Given the description of an element on the screen output the (x, y) to click on. 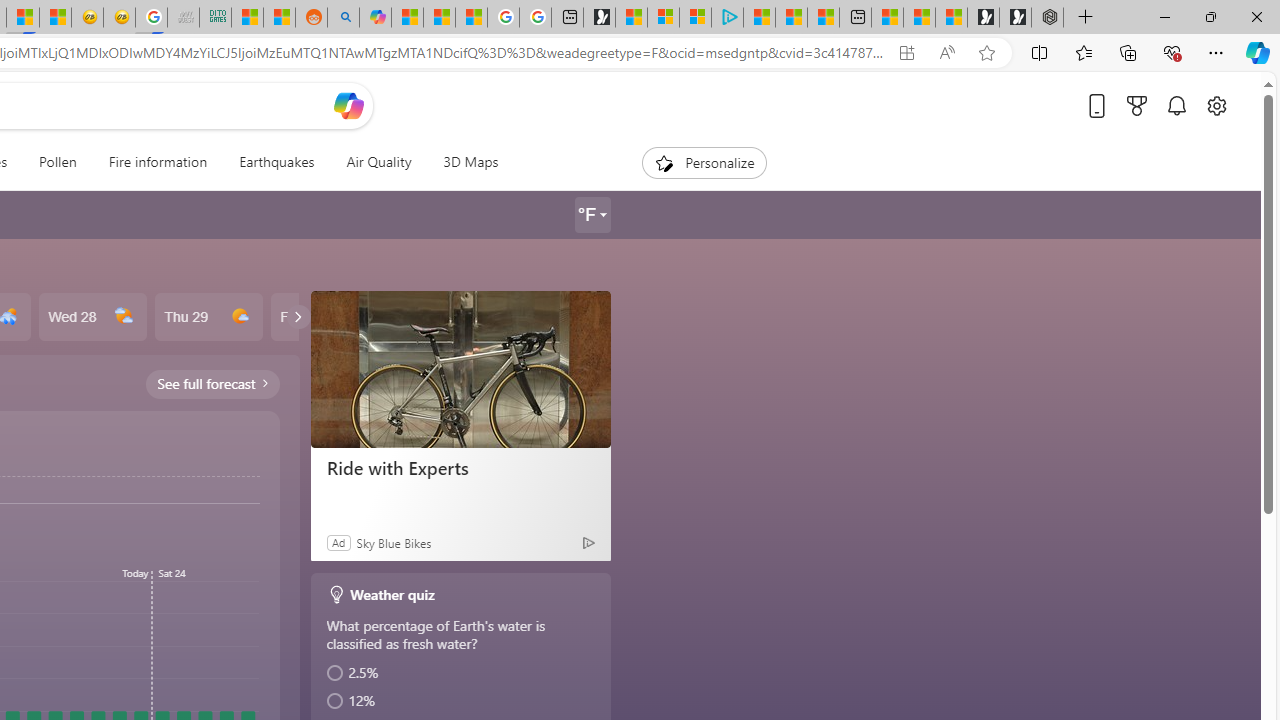
Wed 28 (92, 317)
Fri 30 (324, 317)
2.5% (462, 673)
See full forecast (212, 383)
Earthquakes (276, 162)
